Given the description of an element on the screen output the (x, y) to click on. 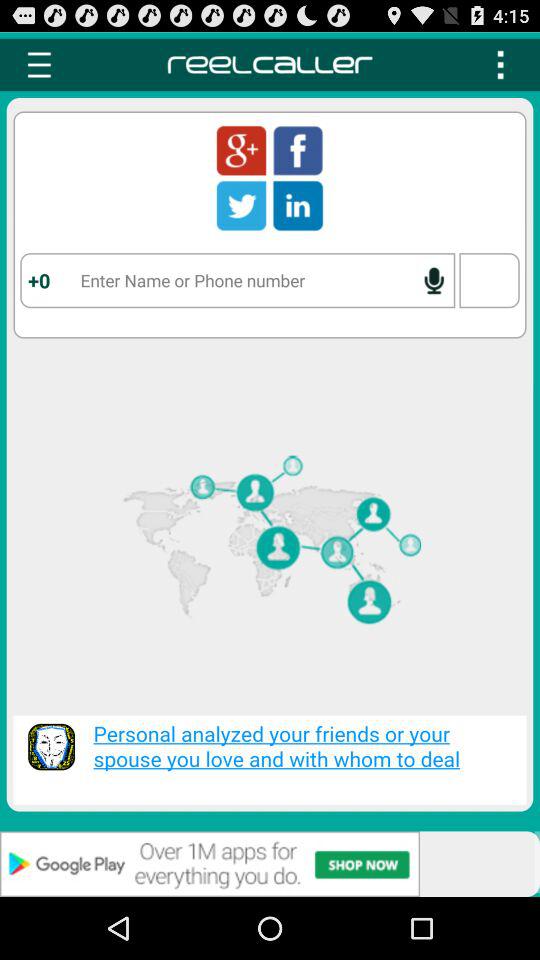
enter name or phone number (237, 279)
